Given the description of an element on the screen output the (x, y) to click on. 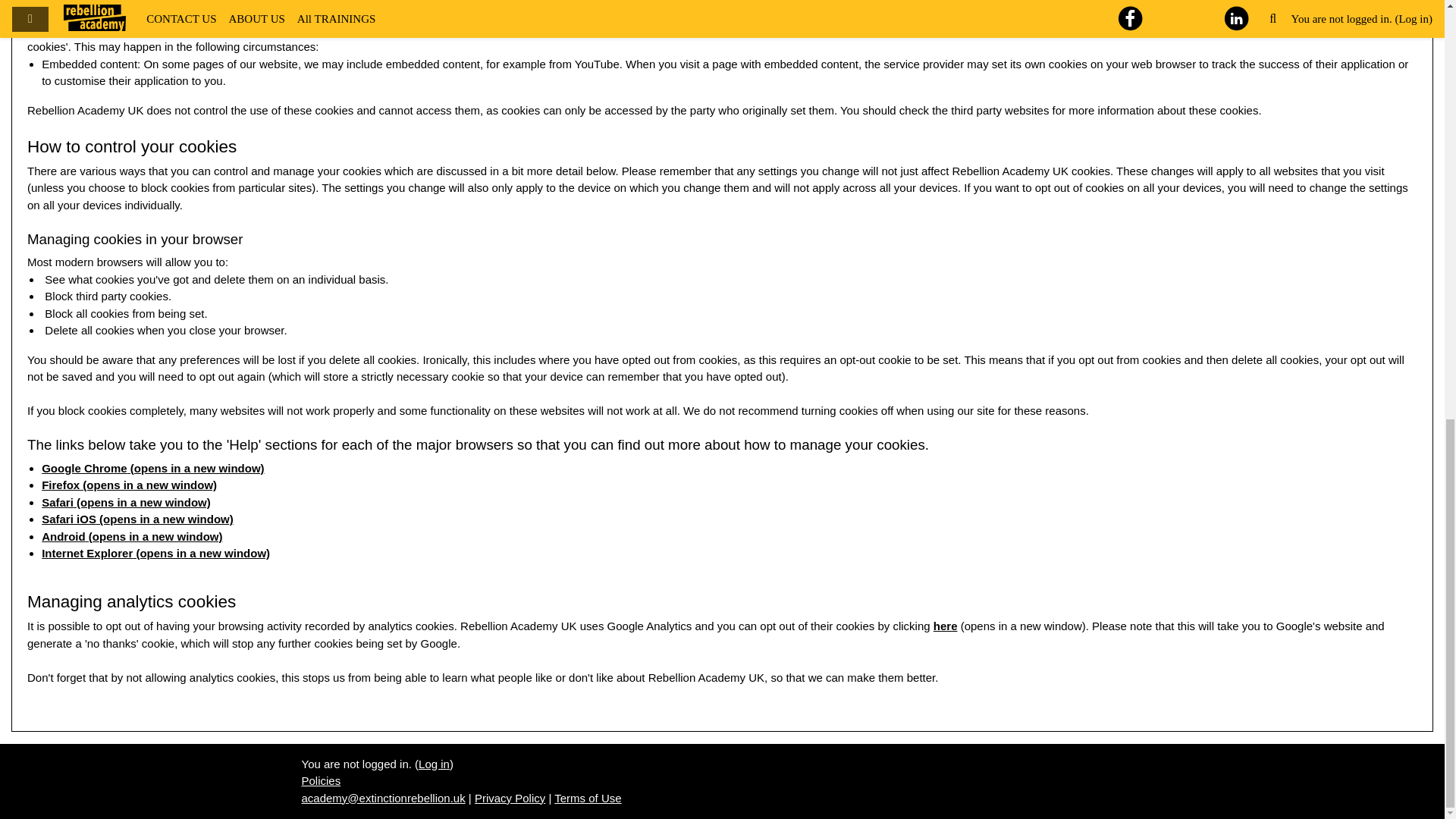
Firefox (61, 484)
Policies (320, 780)
Internet Explorer (87, 553)
Terms of Use (587, 797)
Safari iOS (69, 518)
Log in (434, 762)
Google Chrome (85, 467)
Safari (58, 502)
here (945, 625)
Privacy Policy (509, 797)
Android (63, 535)
